Given the description of an element on the screen output the (x, y) to click on. 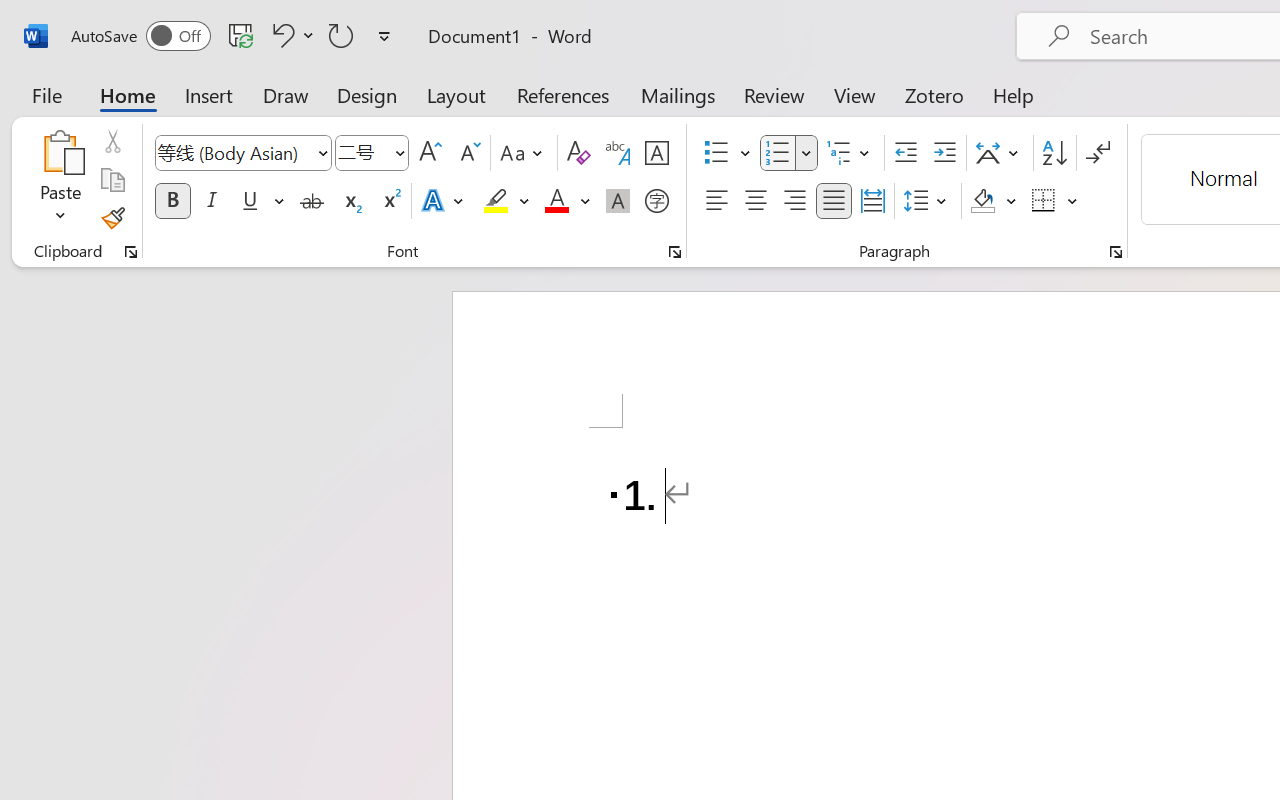
Undo Number Default (290, 35)
